Given the description of an element on the screen output the (x, y) to click on. 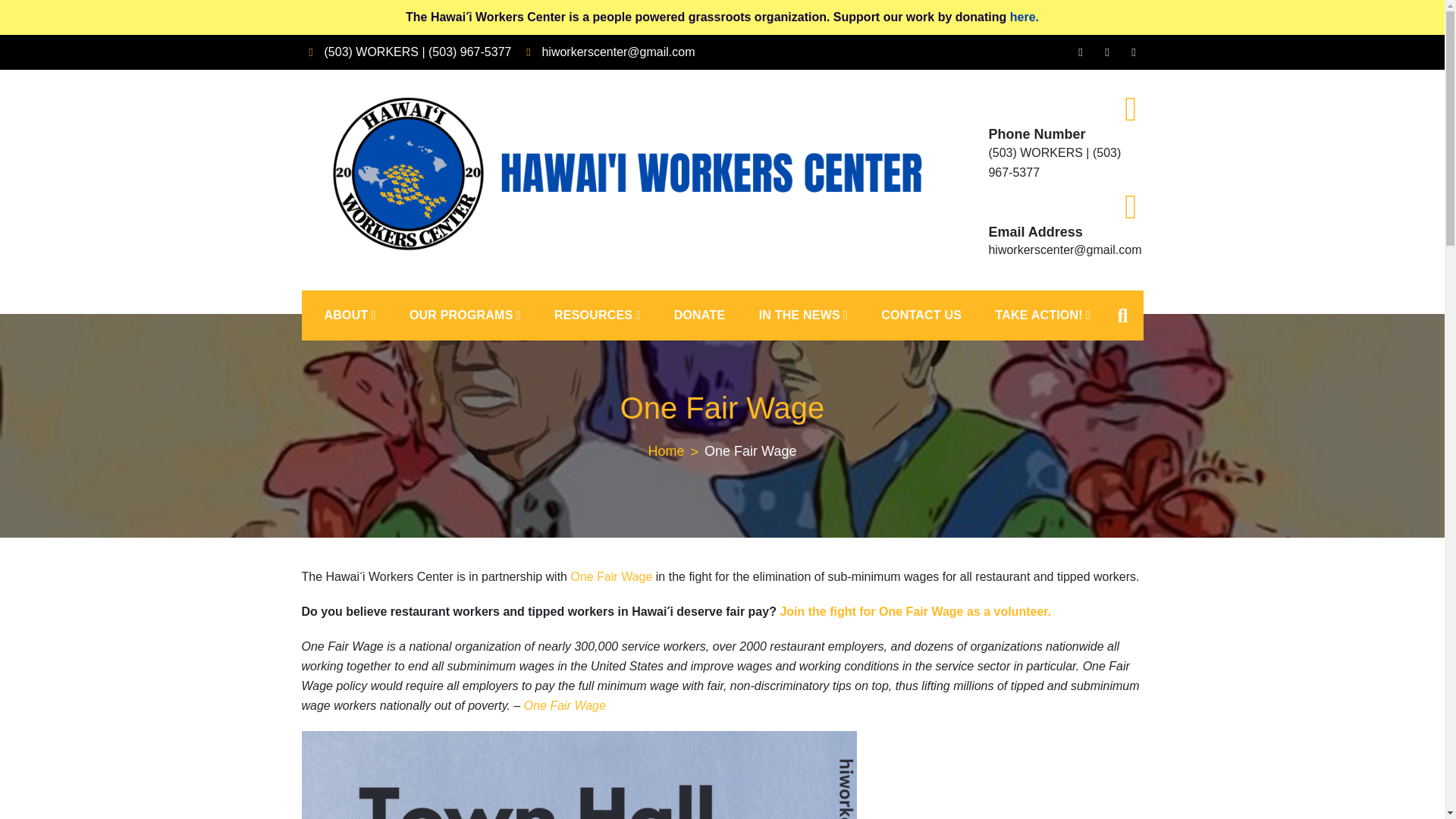
Hawai'i Workers Center (453, 271)
OUR PROGRAMS (464, 315)
ABOUT (349, 315)
here. (1024, 16)
